Given the description of an element on the screen output the (x, y) to click on. 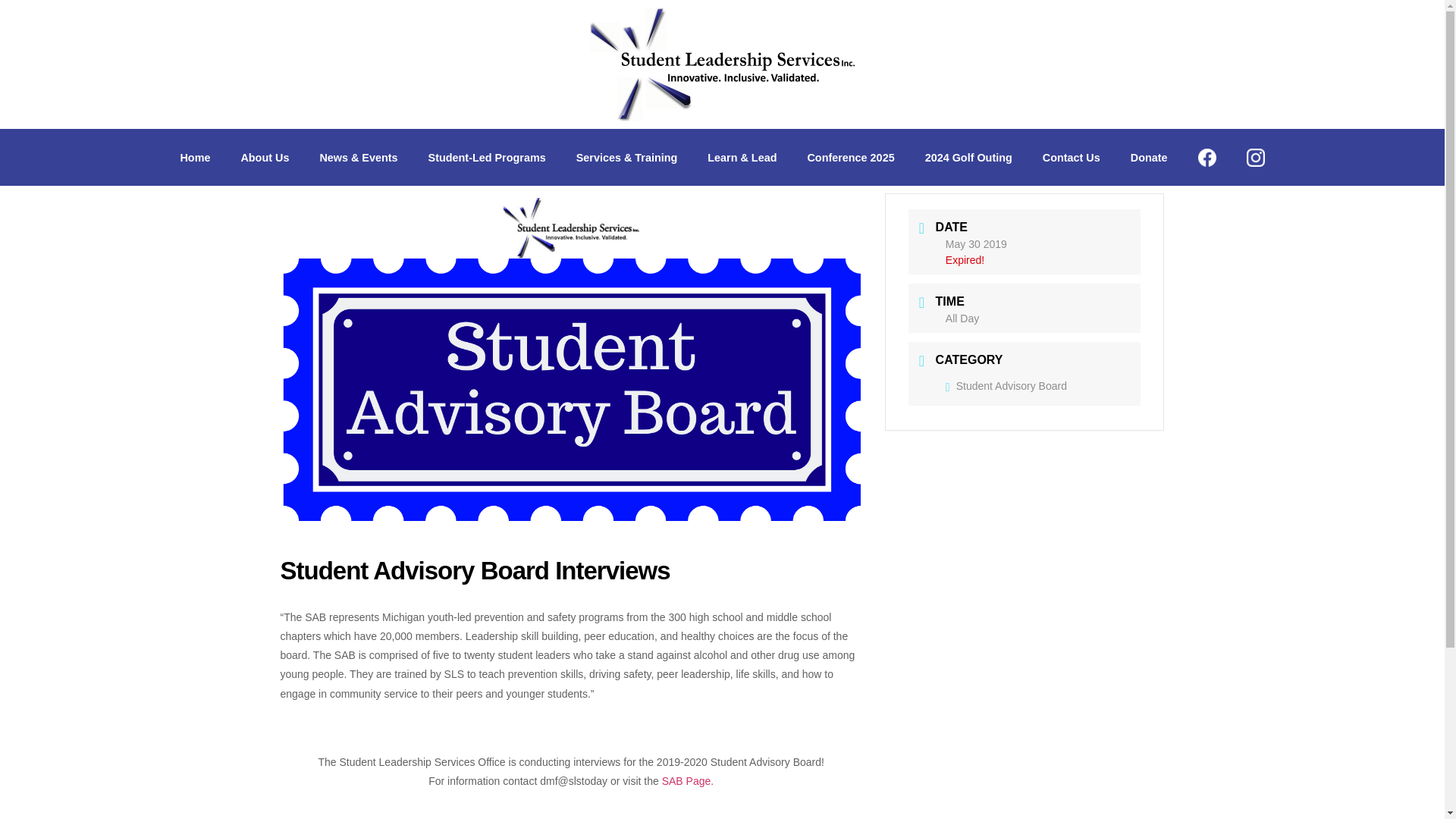
2024 Golf Outing (968, 157)
Donate (1148, 157)
Conference 2025 (850, 157)
Student-Led Programs (486, 157)
Student Leadership Services (194, 157)
Contact Us (1071, 157)
Home (194, 157)
About Us (264, 157)
